Given the description of an element on the screen output the (x, y) to click on. 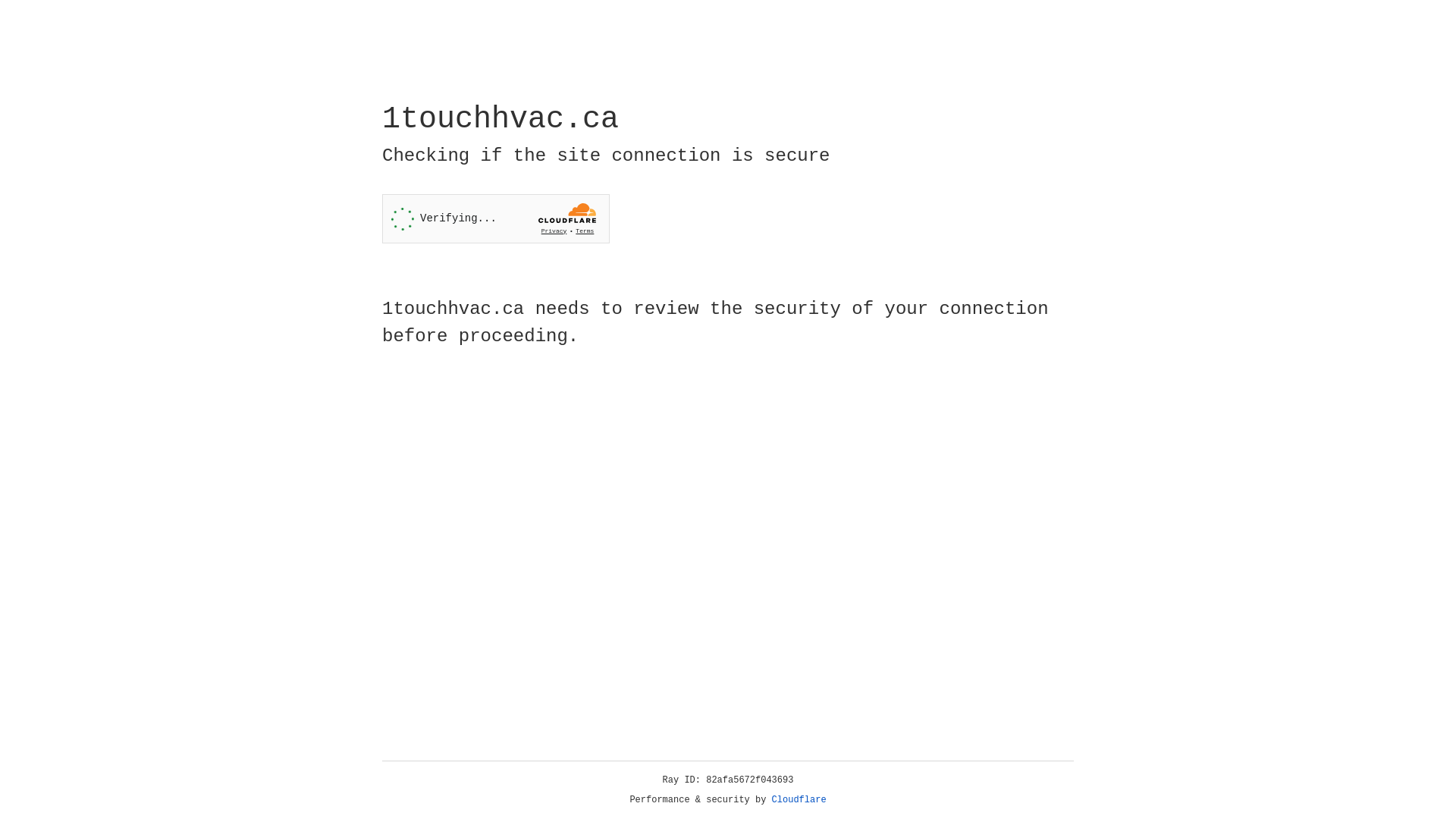
Widget containing a Cloudflare security challenge Element type: hover (495, 218)
Cloudflare Element type: text (798, 799)
